Given the description of an element on the screen output the (x, y) to click on. 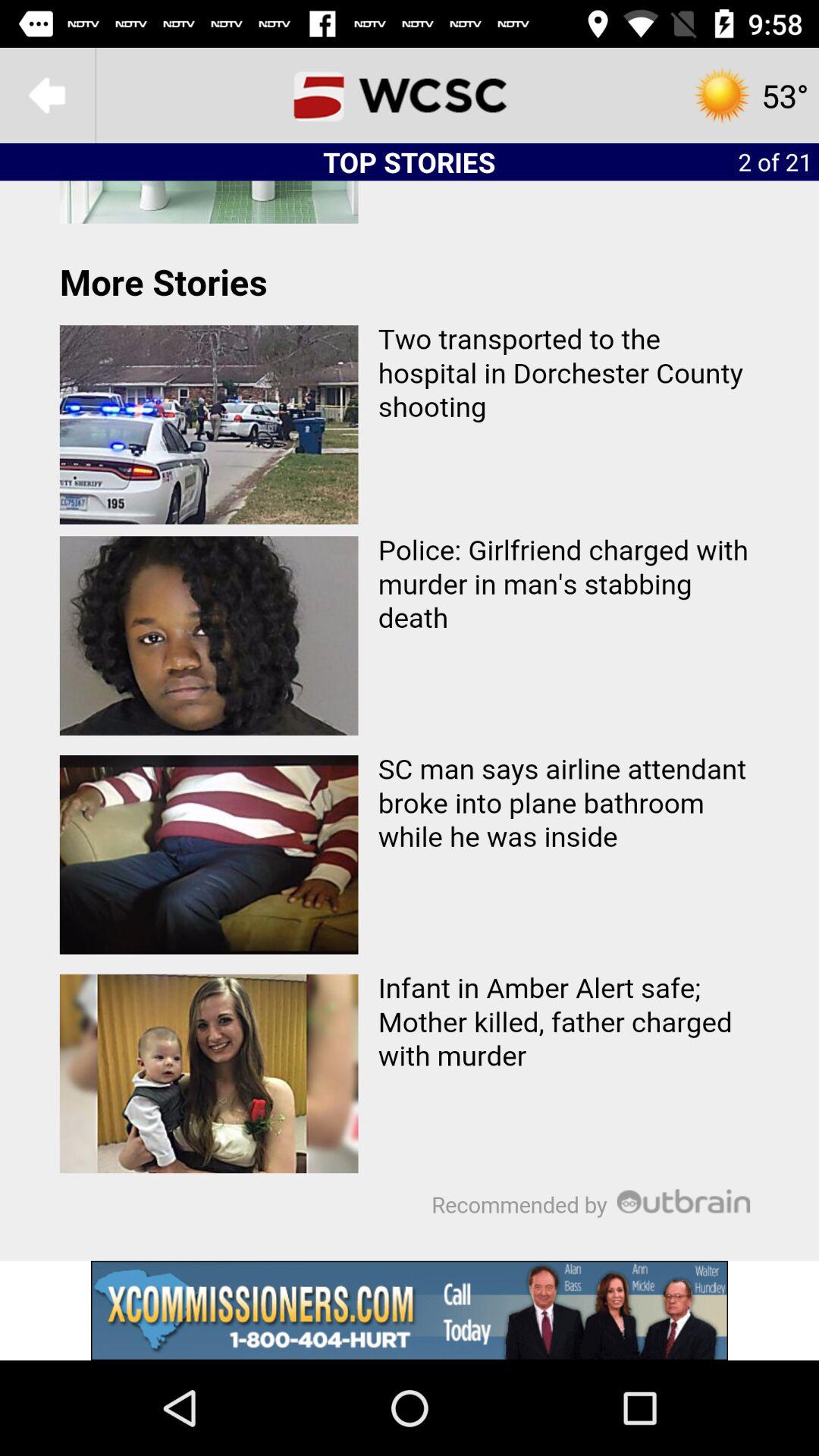
go back (47, 95)
